Given the description of an element on the screen output the (x, y) to click on. 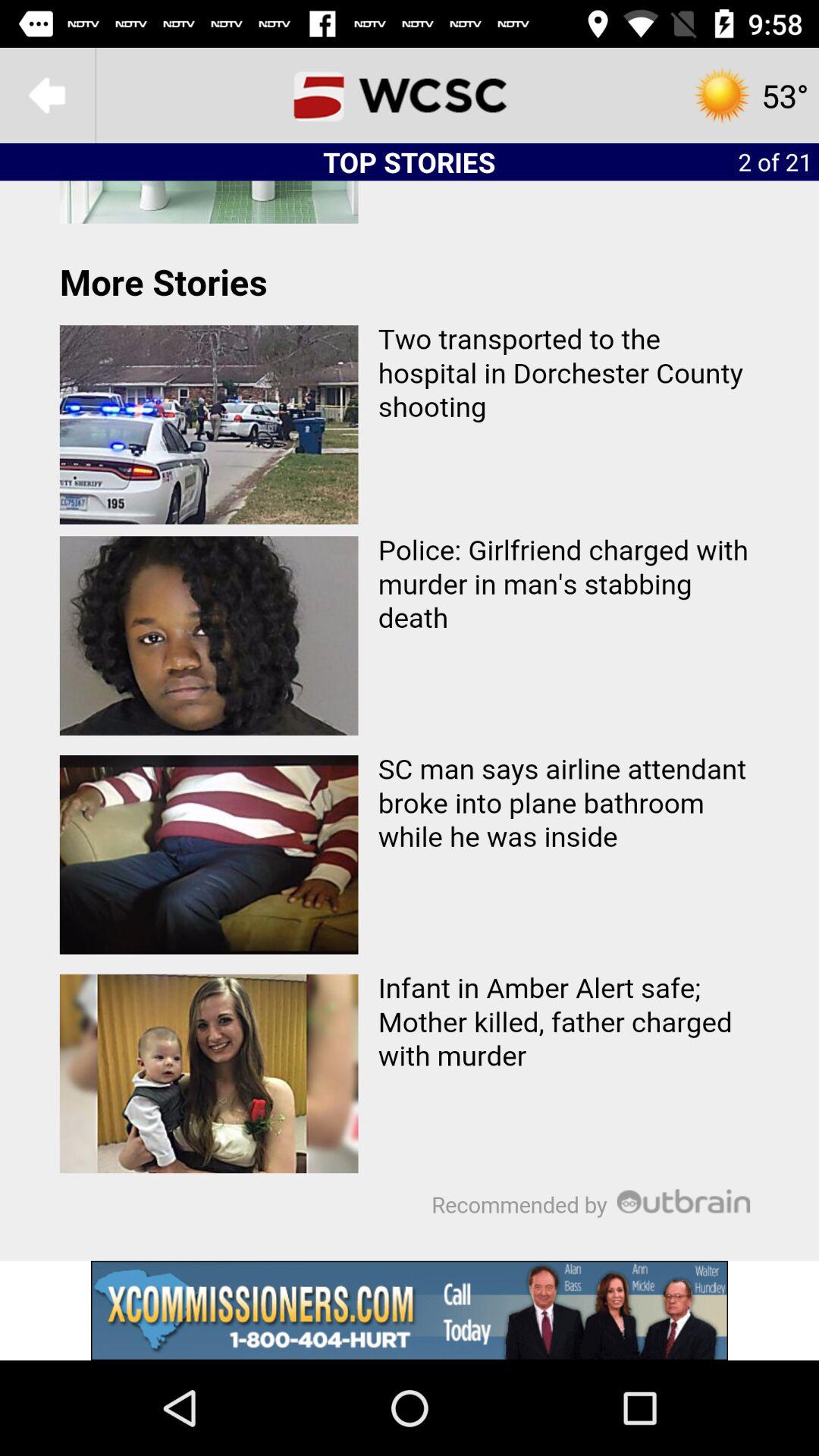
go back (47, 95)
